Given the description of an element on the screen output the (x, y) to click on. 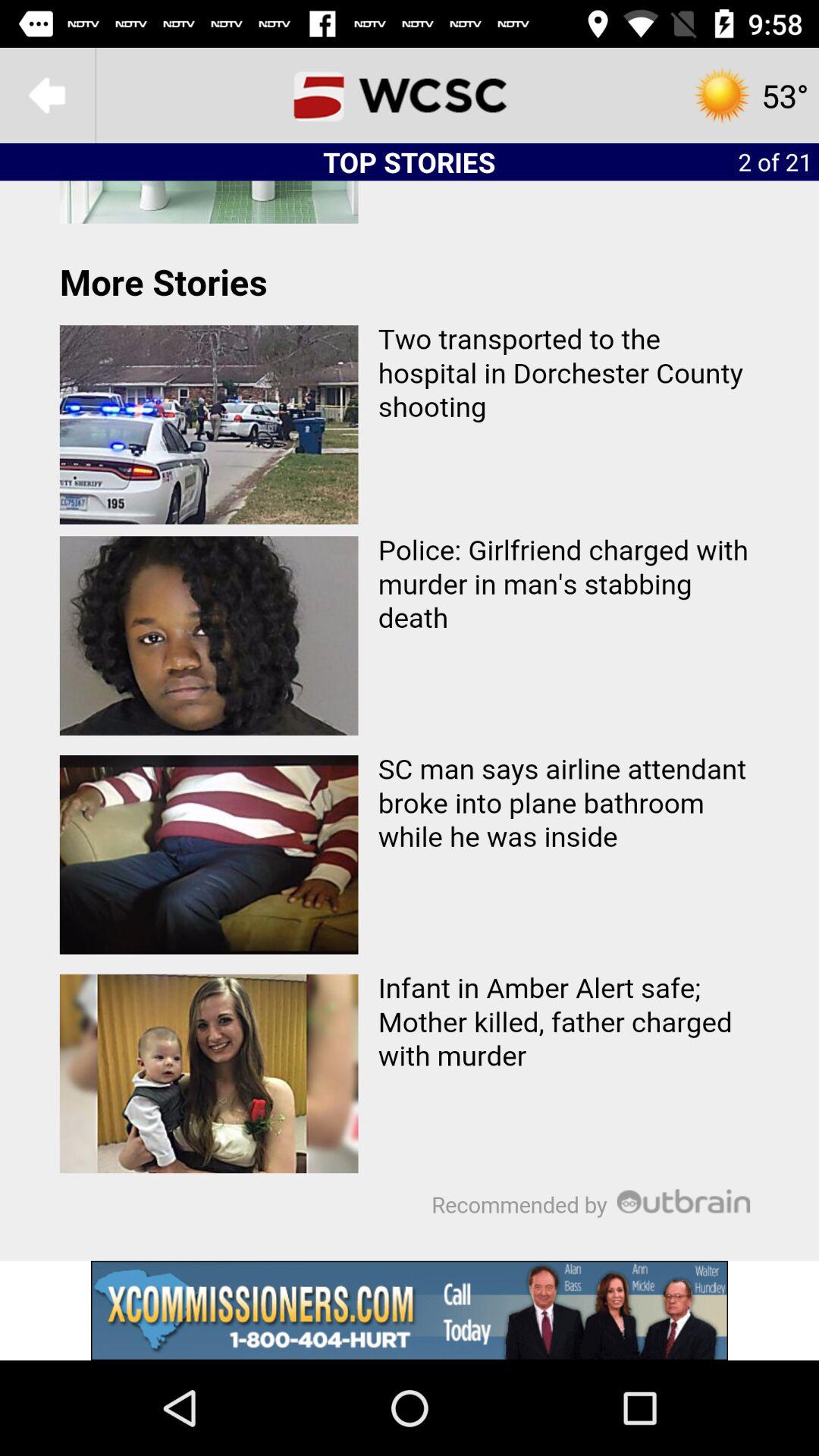
go back (47, 95)
